Given the description of an element on the screen output the (x, y) to click on. 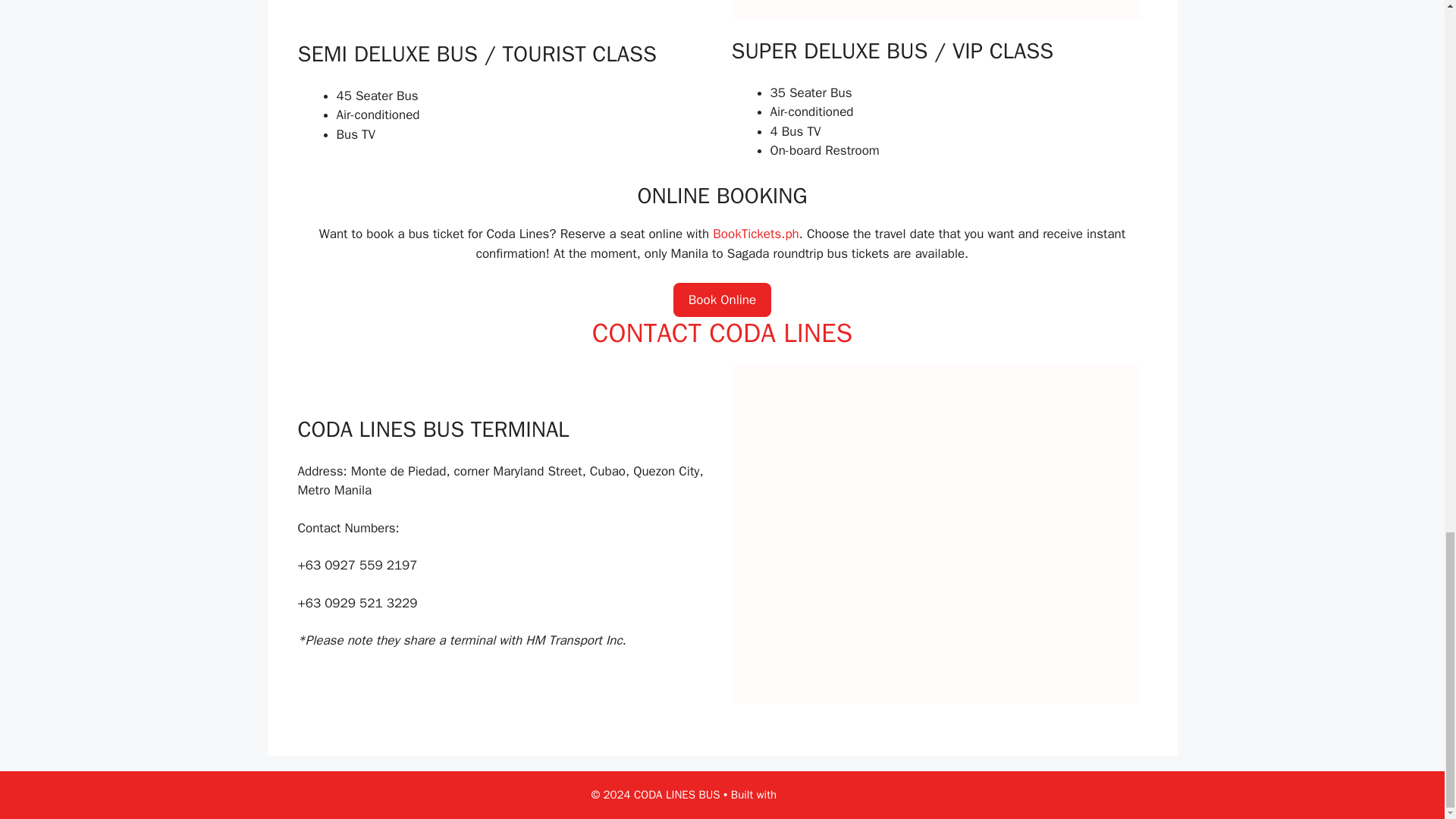
GeneratePress (816, 794)
Scroll back to top (1406, 2)
BookTickets.ph (755, 233)
Book Online (721, 299)
